Given the description of an element on the screen output the (x, y) to click on. 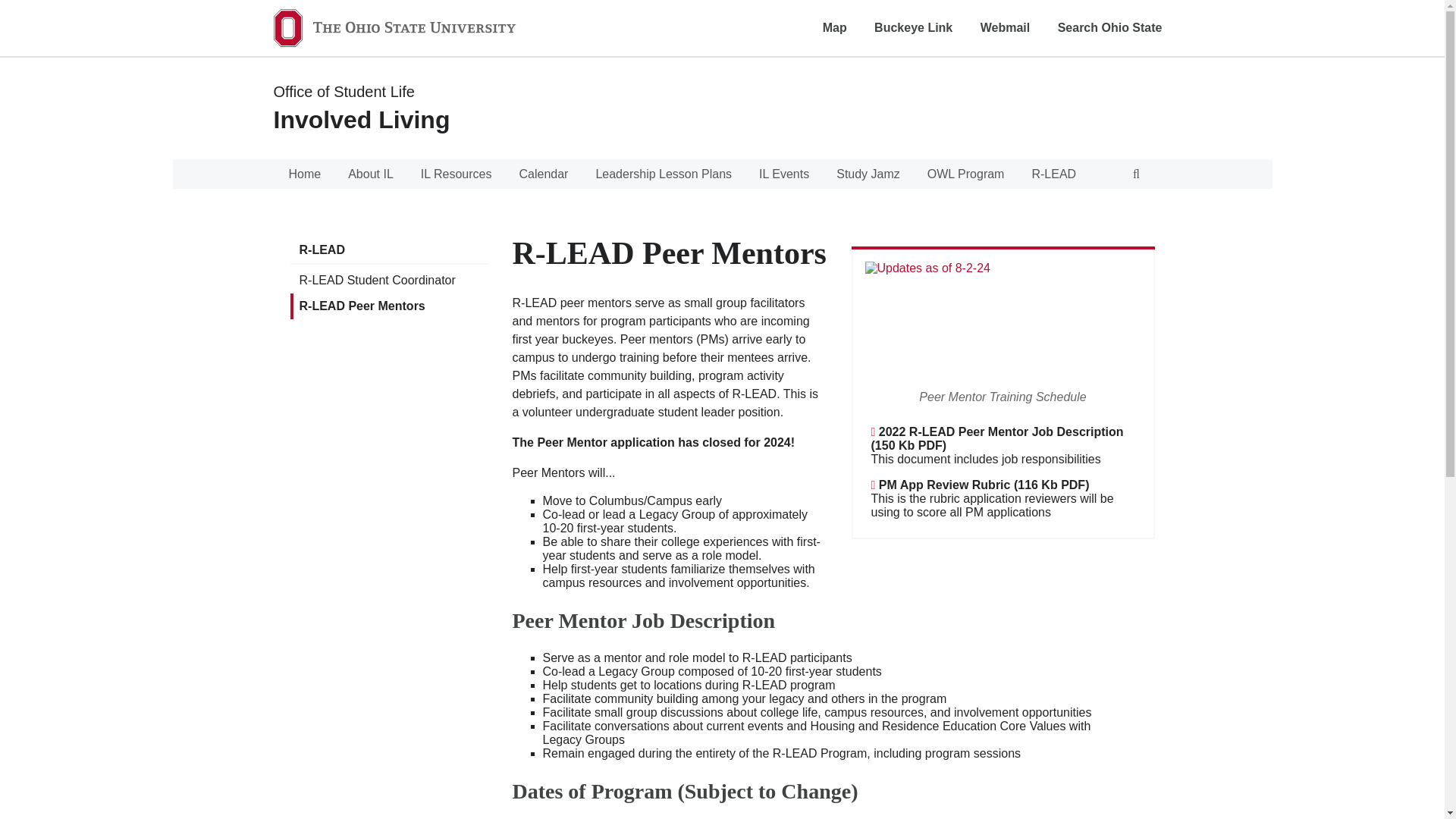
OWL Program (965, 173)
Search Ohio State (1109, 27)
Webmail (1004, 27)
R-LEAD (388, 250)
Leadership Lesson Plans (662, 173)
Calendar (542, 173)
Home (304, 173)
R-LEAD Student Coordinator (388, 280)
R-LEAD Peer Mentors (388, 306)
Buckeye Link (913, 27)
